Given the description of an element on the screen output the (x, y) to click on. 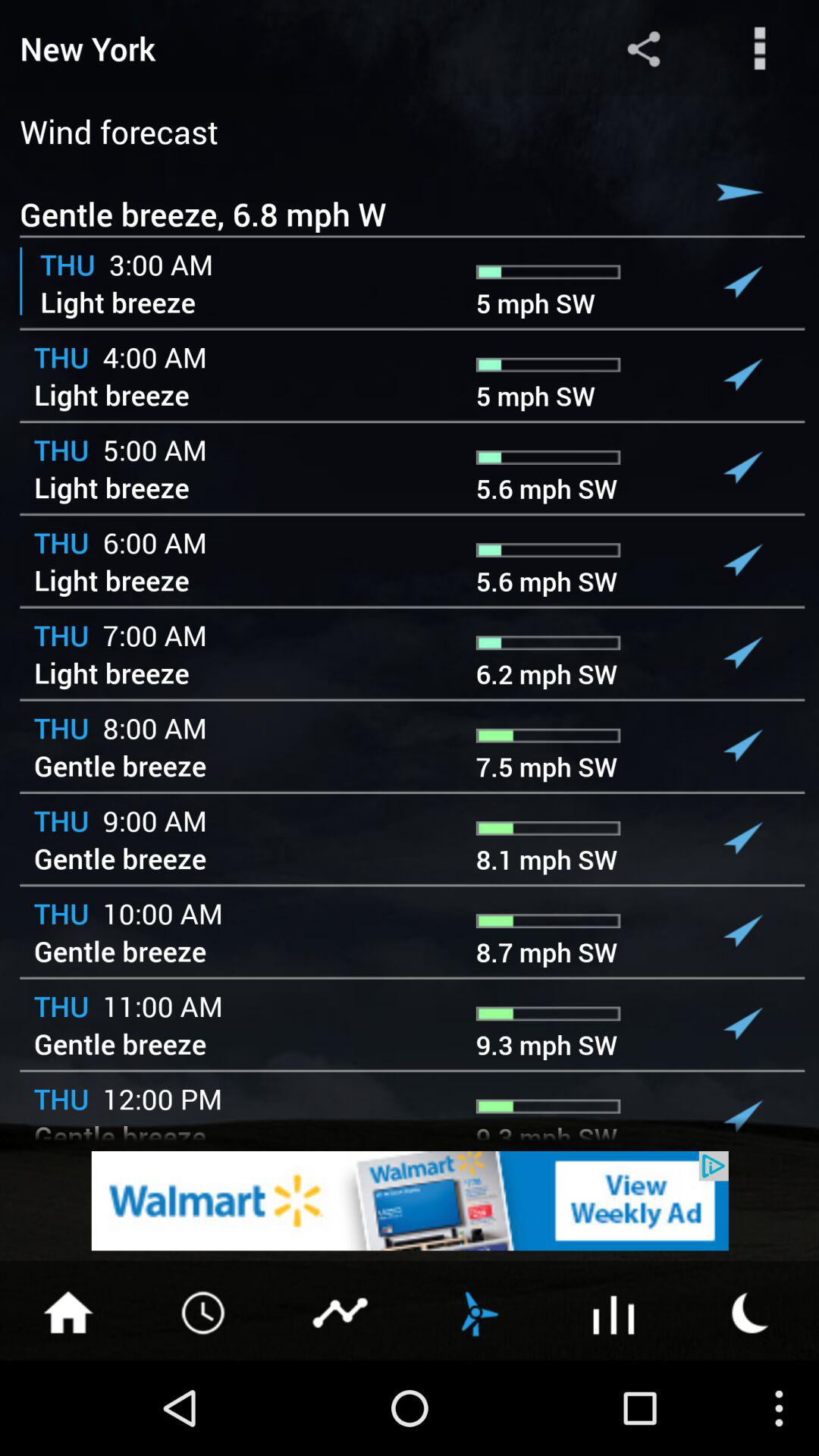
custom controls (759, 48)
